Given the description of an element on the screen output the (x, y) to click on. 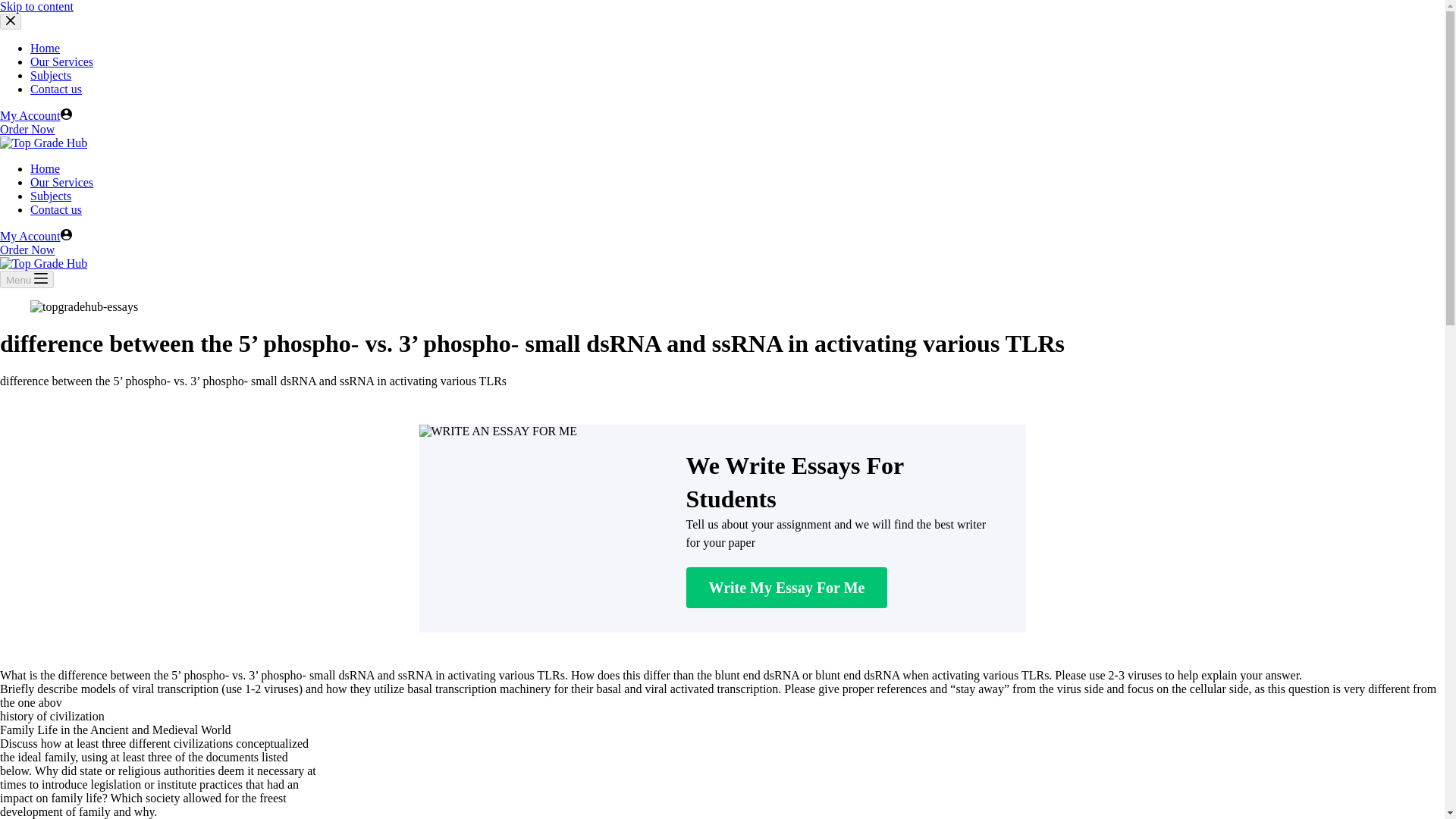
Skip to content (37, 6)
Order Now (27, 249)
Home (44, 168)
Our Services (61, 61)
Subjects (50, 195)
Order Now (27, 128)
Contact us (55, 209)
Contact us (55, 88)
Write My Essay For Me (785, 587)
Our Services (61, 182)
